Given the description of an element on the screen output the (x, y) to click on. 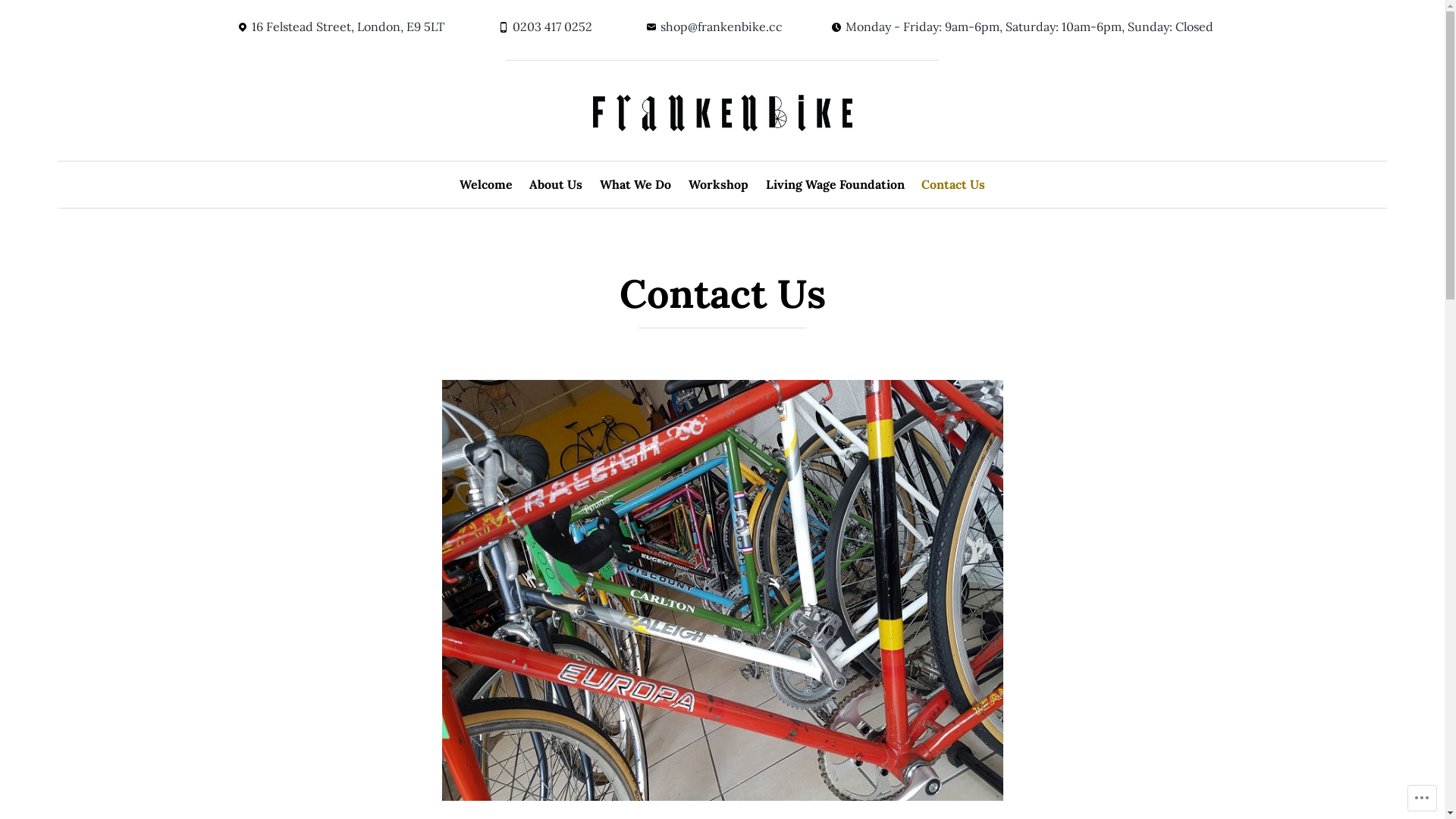
0203 417 0252 Element type: text (545, 27)
Frankenbike Element type: text (129, 160)
About Us Element type: text (555, 184)
Welcome Element type: text (485, 184)
Contact Us Element type: text (952, 184)
Living Wage Foundation Element type: text (835, 184)
shop@frankenbike.cc Element type: text (714, 27)
16 Felstead Street, London, E9 5LT Element type: text (340, 27)
Workshop Element type: text (718, 184)
What We Do Element type: text (635, 184)
